Given the description of an element on the screen output the (x, y) to click on. 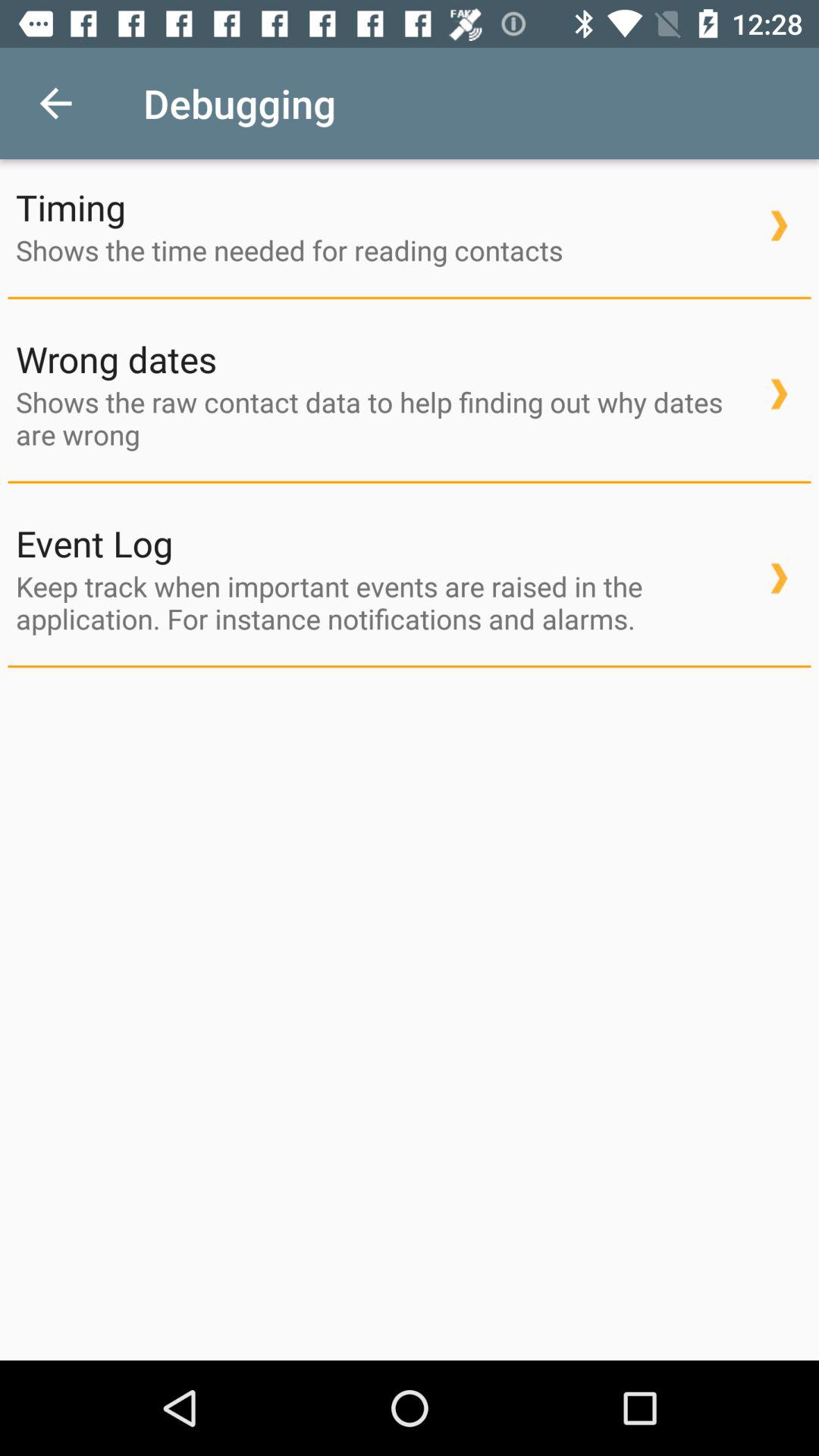
press icon next to debugging (55, 103)
